Given the description of an element on the screen output the (x, y) to click on. 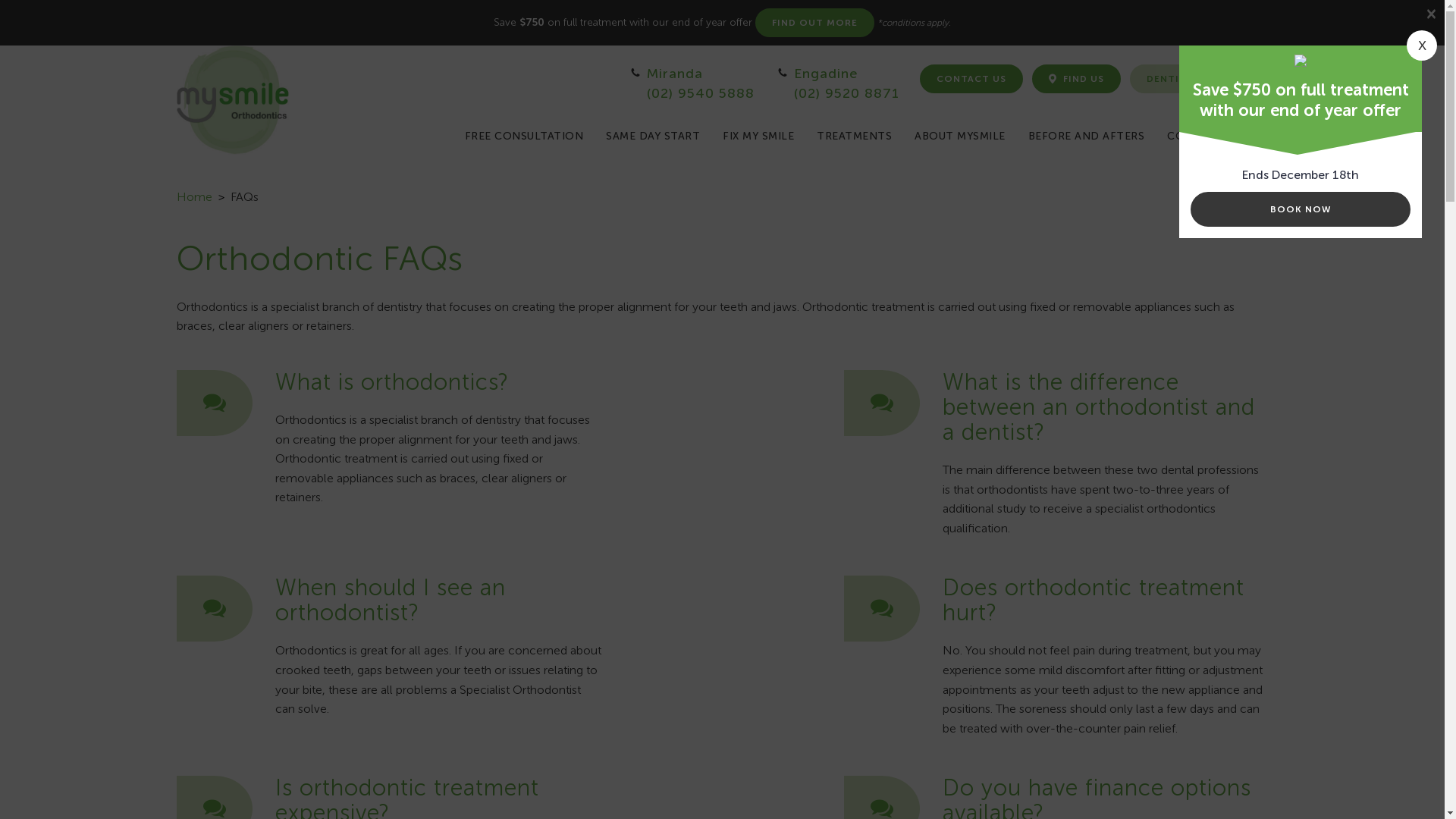
MySmile Orthodontics Element type: hover (232, 99)
SAME DAY START Element type: text (652, 136)
TREATMENTS Element type: text (854, 136)
FIX MY SMILE Element type: text (758, 136)
DENTIST REFERRALS Element type: text (1198, 78)
FREE CONSULTATION Element type: text (523, 136)
FIND US Element type: text (1075, 78)
ABOUT MYSMILE Element type: text (959, 136)
Miranda
(02) 9540 5888 Element type: text (691, 83)
BOOK NOW Element type: text (1300, 208)
BEFORE AND AFTERS Element type: text (1086, 136)
CONTACT US Element type: text (970, 78)
FIND OUT MORE Element type: text (814, 22)
FAQS Element type: text (1242, 136)
Engadine
(02) 9520 8871 Element type: text (837, 83)
Home Element type: text (193, 196)
COSTS Element type: text (1186, 136)
